Given the description of an element on the screen output the (x, y) to click on. 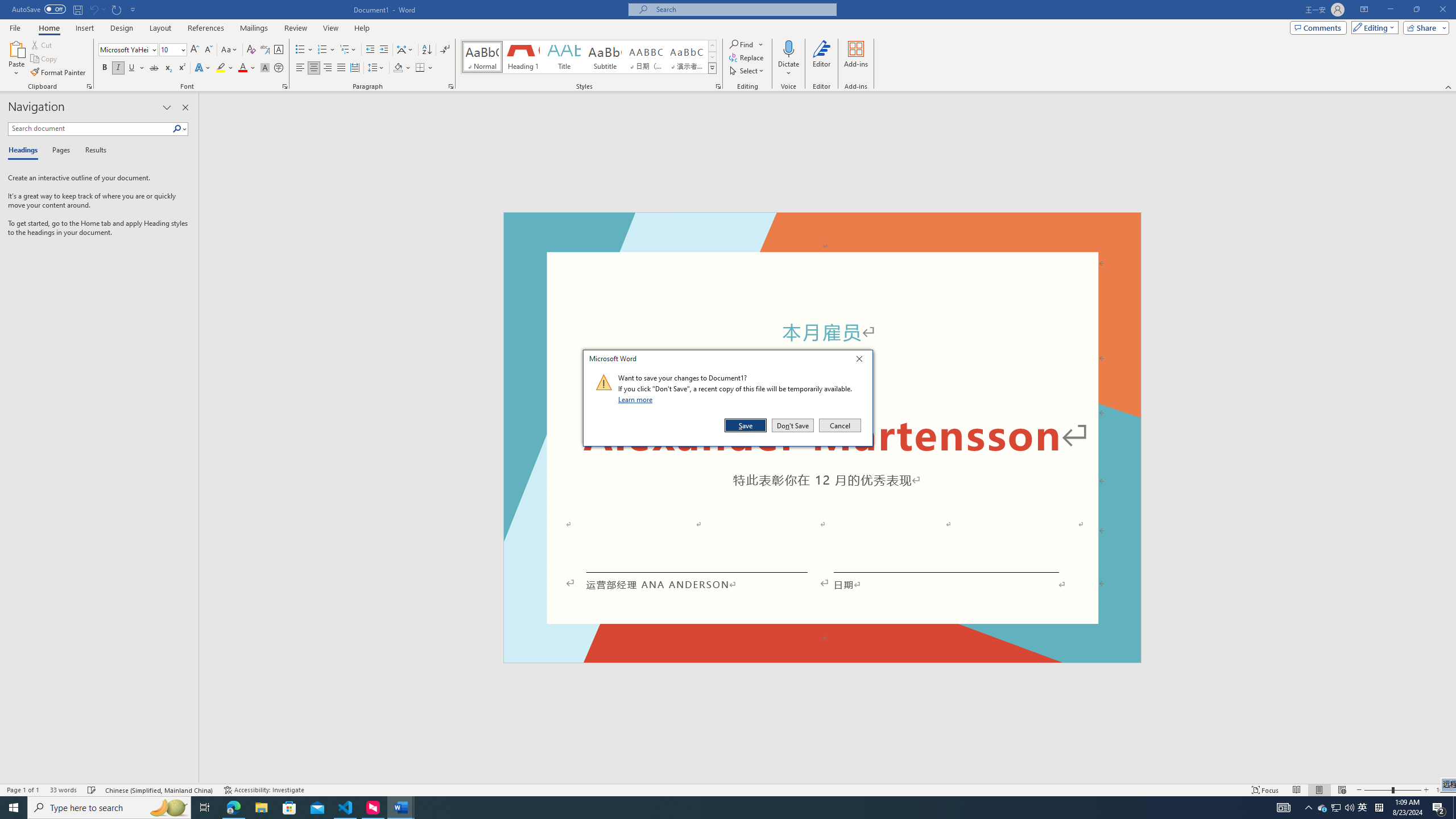
Class: NetUIImage (603, 382)
Show/Hide Editing Marks (444, 49)
Customize Quick Access Toolbar (133, 9)
Class: NetUIScrollBar (1450, 437)
Search highlights icon opens search home window (167, 807)
Font Color (246, 67)
